Given the description of an element on the screen output the (x, y) to click on. 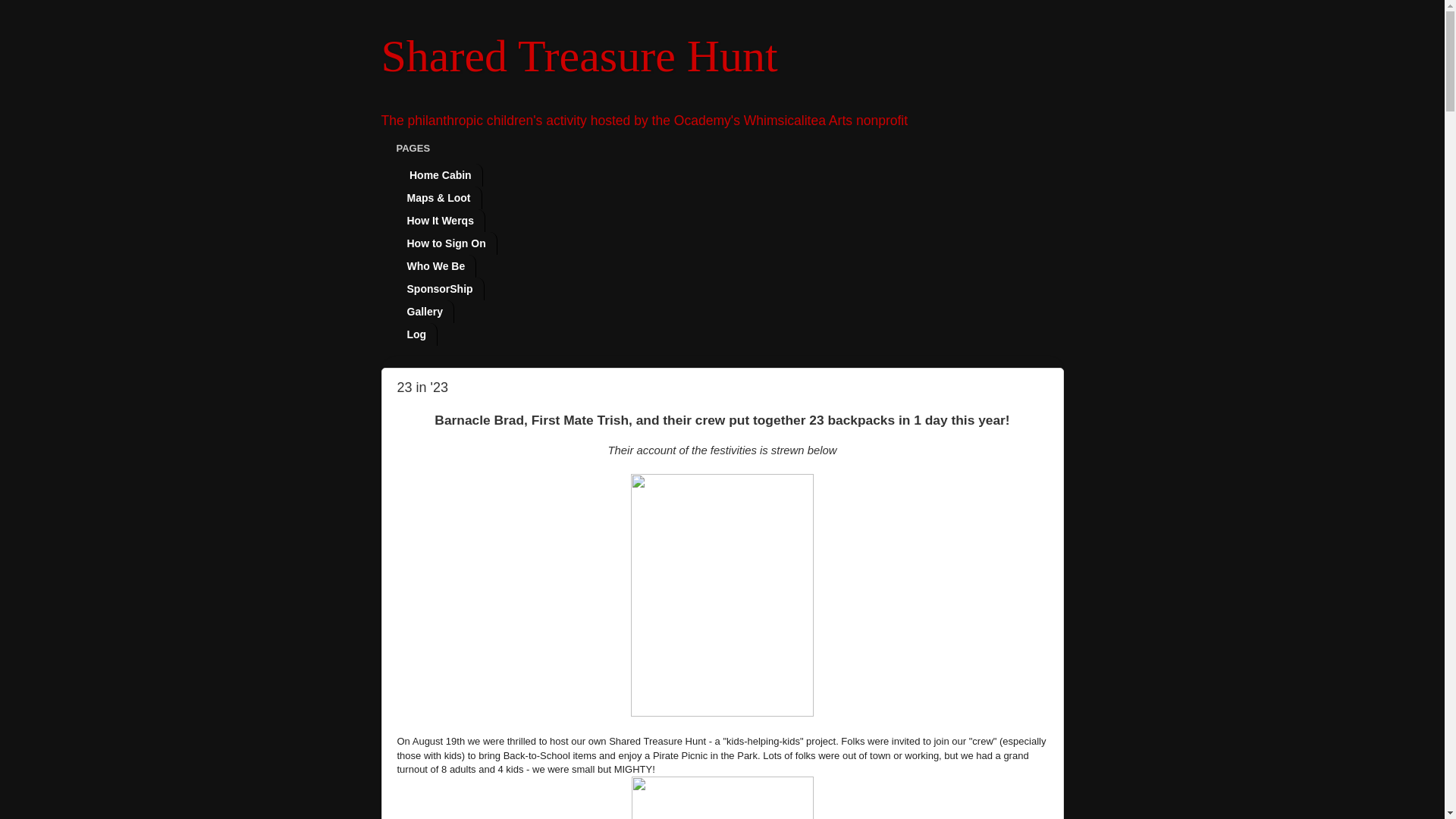
Shared Treasure Hunt (578, 56)
How to Sign On (446, 242)
Home Cabin (438, 174)
Who We Be (436, 265)
SponsorShip (439, 288)
Gallery (424, 311)
How It Werqs (440, 220)
Log (417, 333)
